Given the description of an element on the screen output the (x, y) to click on. 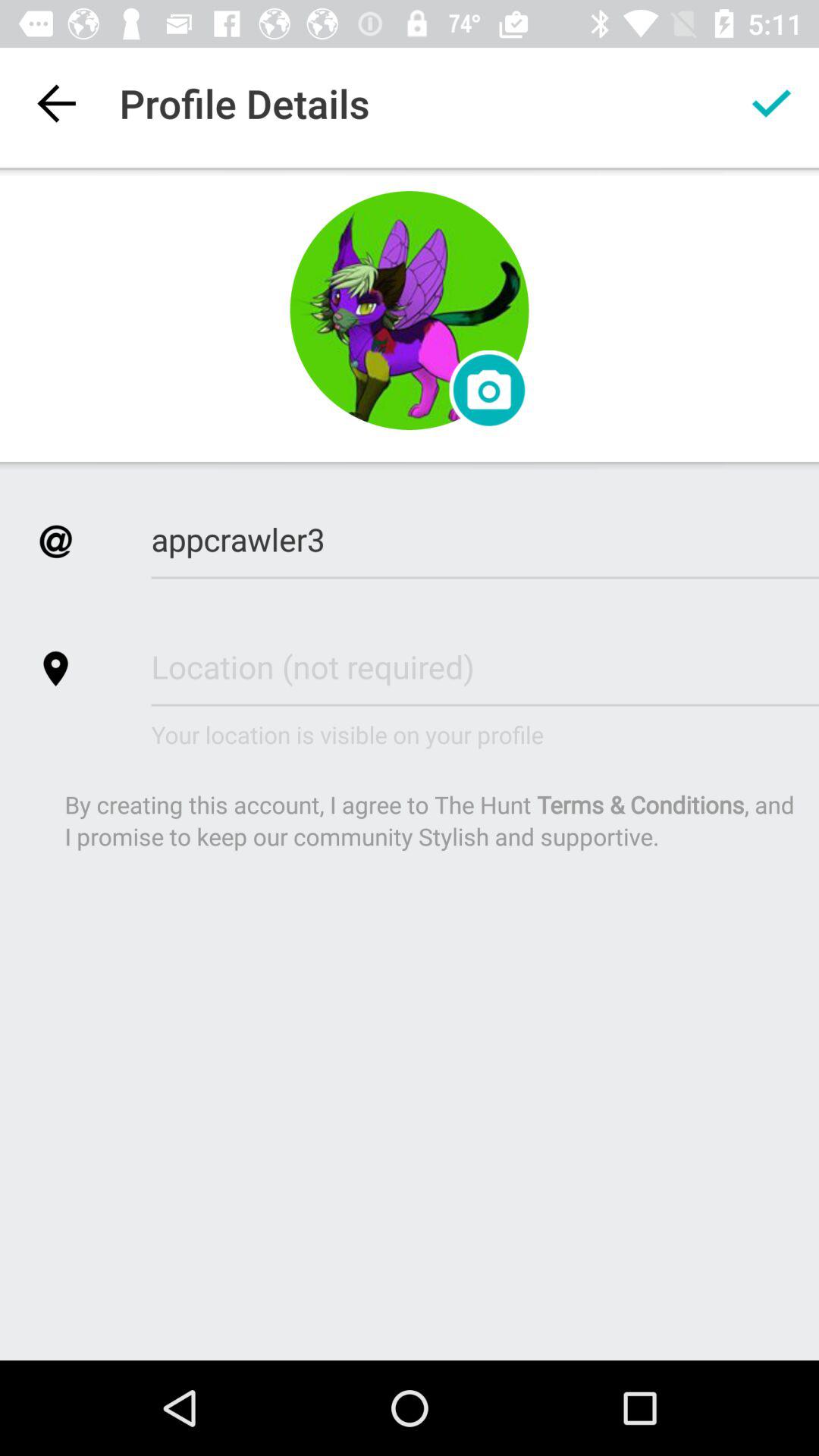
see photo 's option (488, 389)
